Given the description of an element on the screen output the (x, y) to click on. 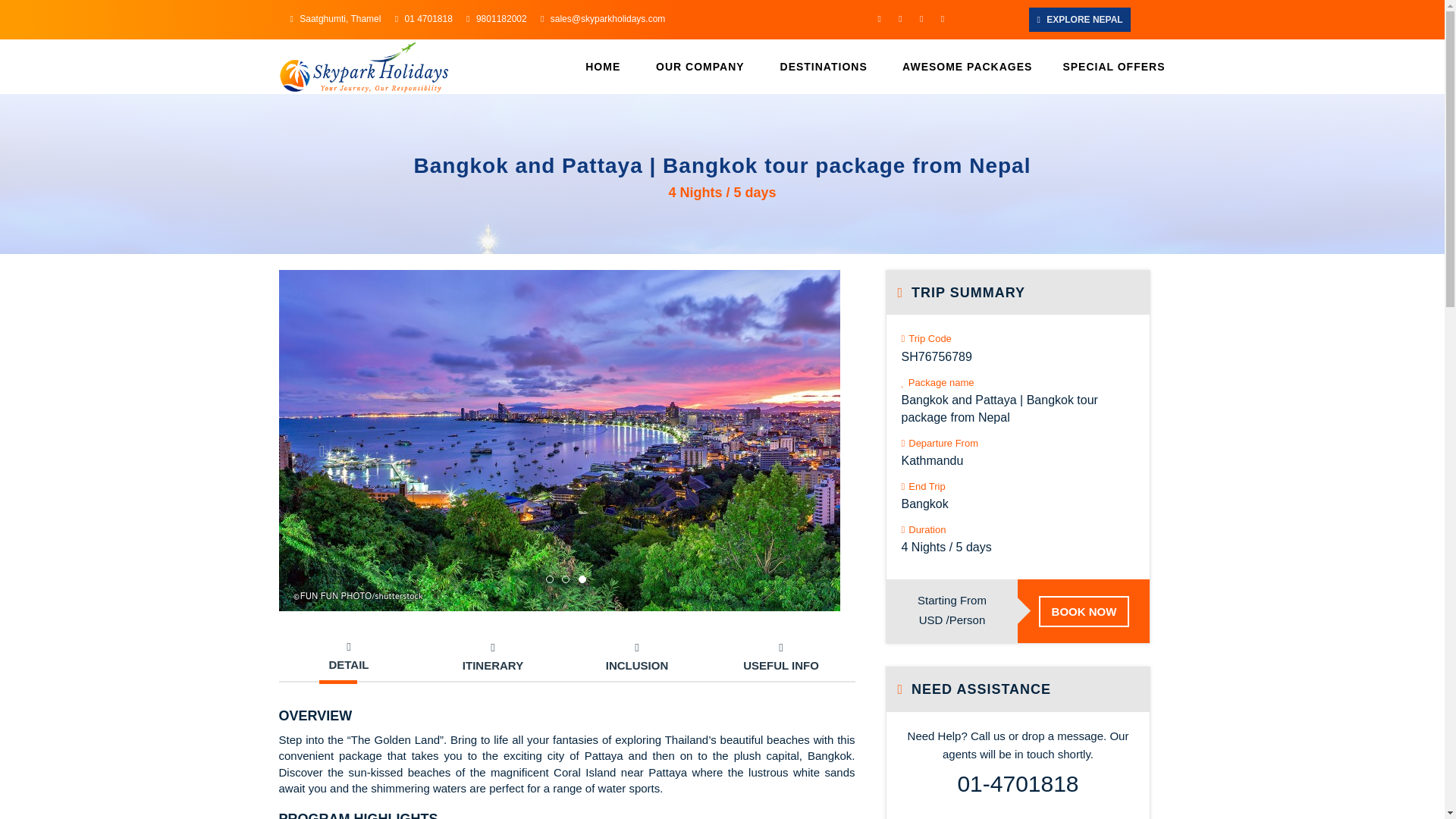
9801182002 (495, 19)
INCLUSION (636, 657)
SPECIAL OFFERS (1105, 66)
ITINERARY (492, 657)
AWESOME PACKAGES (965, 66)
DESTINATIONS (821, 66)
EXPLORE NEPAL (1079, 19)
Saatghumti, Thamel (334, 19)
OUR COMPANY (696, 66)
01 4701818 (423, 19)
HOME (602, 66)
DETAIL (348, 656)
